Given the description of an element on the screen output the (x, y) to click on. 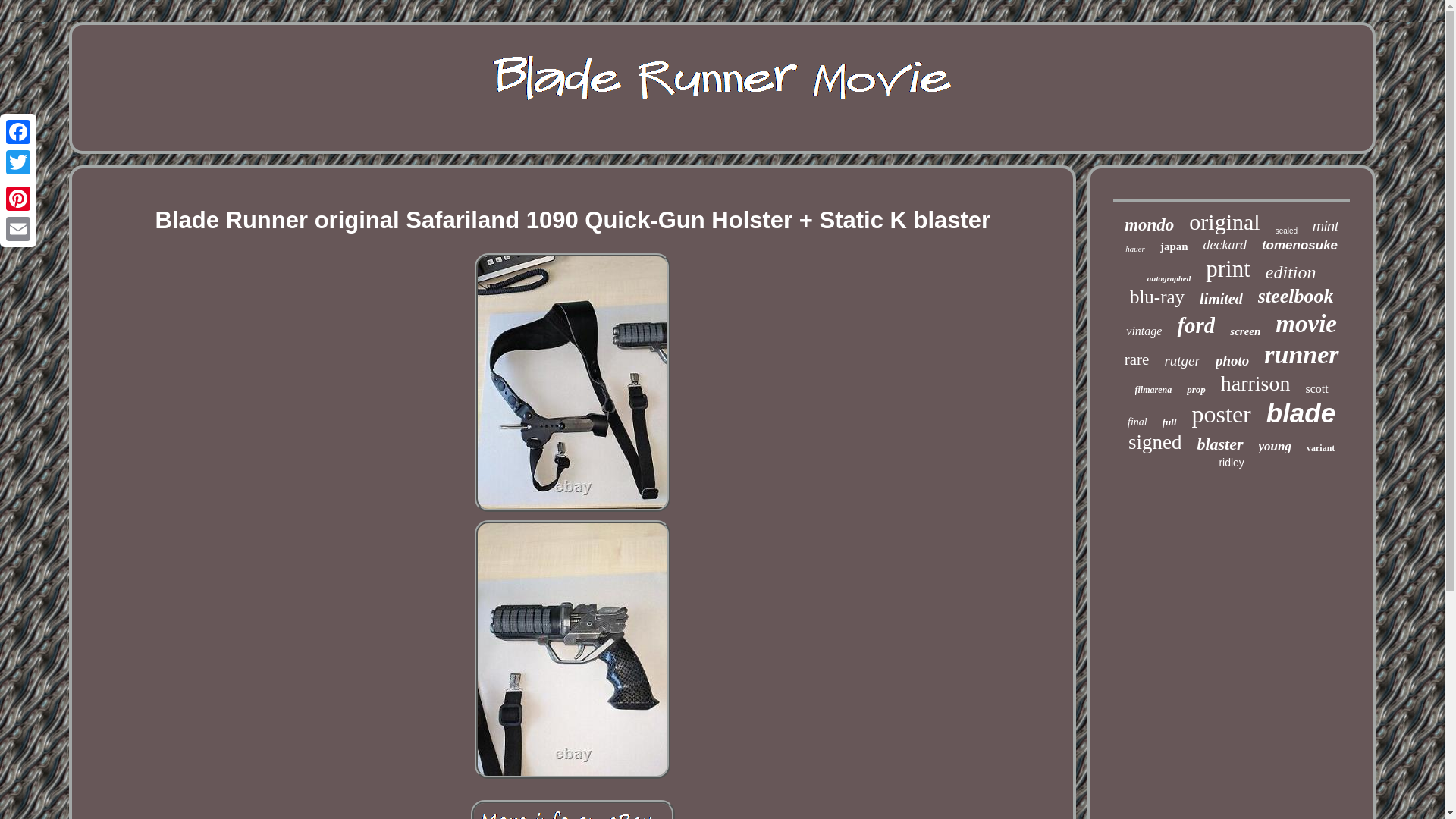
Email (17, 228)
mint (1325, 227)
autographed (1169, 277)
ford (1195, 325)
scott (1316, 388)
sealed (1286, 230)
Twitter (17, 162)
photo (1232, 360)
mondo (1148, 225)
original (1224, 222)
